Given the description of an element on the screen output the (x, y) to click on. 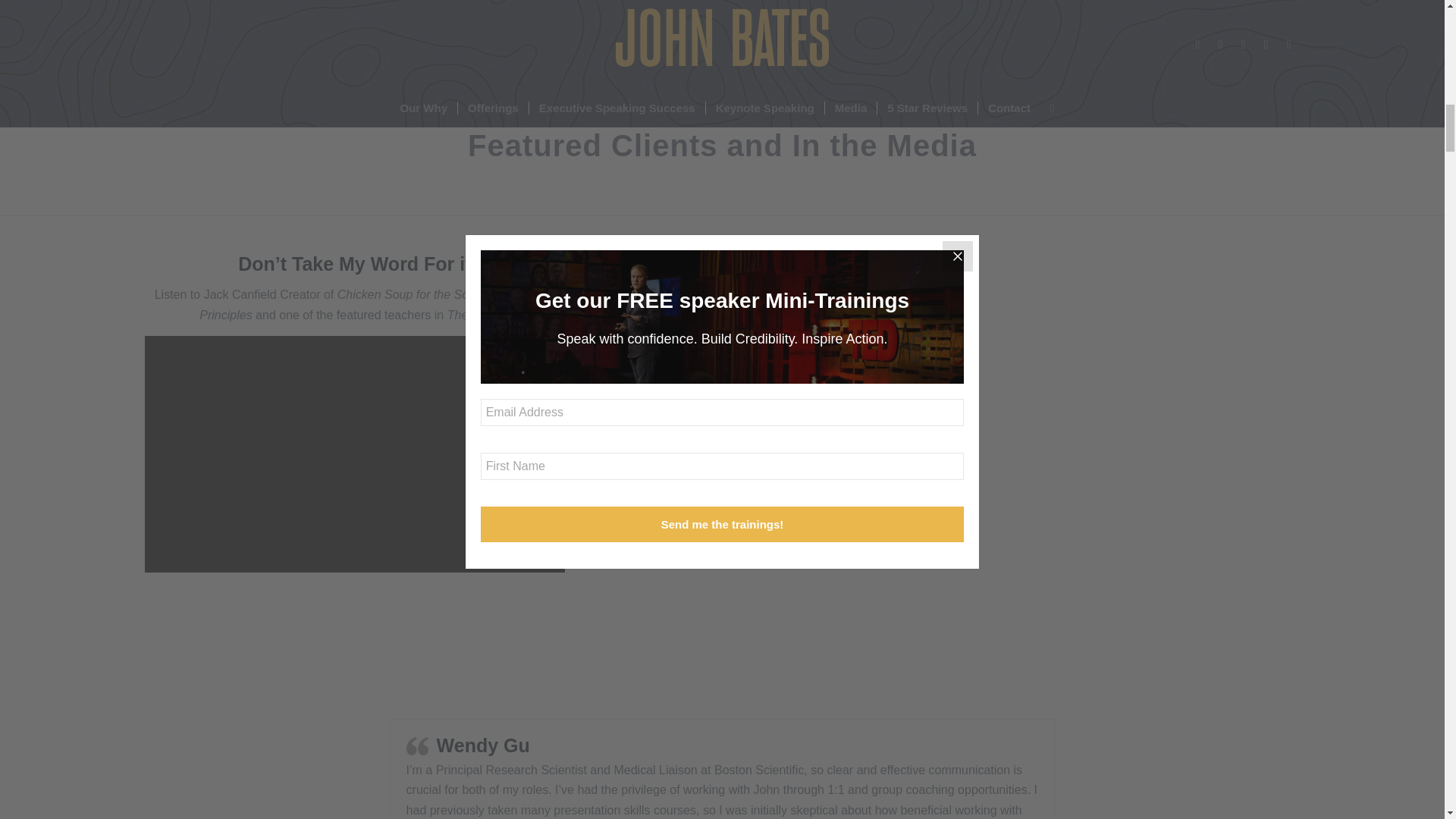
Sign up for Mini-Trainings (313, 19)
